Given the description of an element on the screen output the (x, y) to click on. 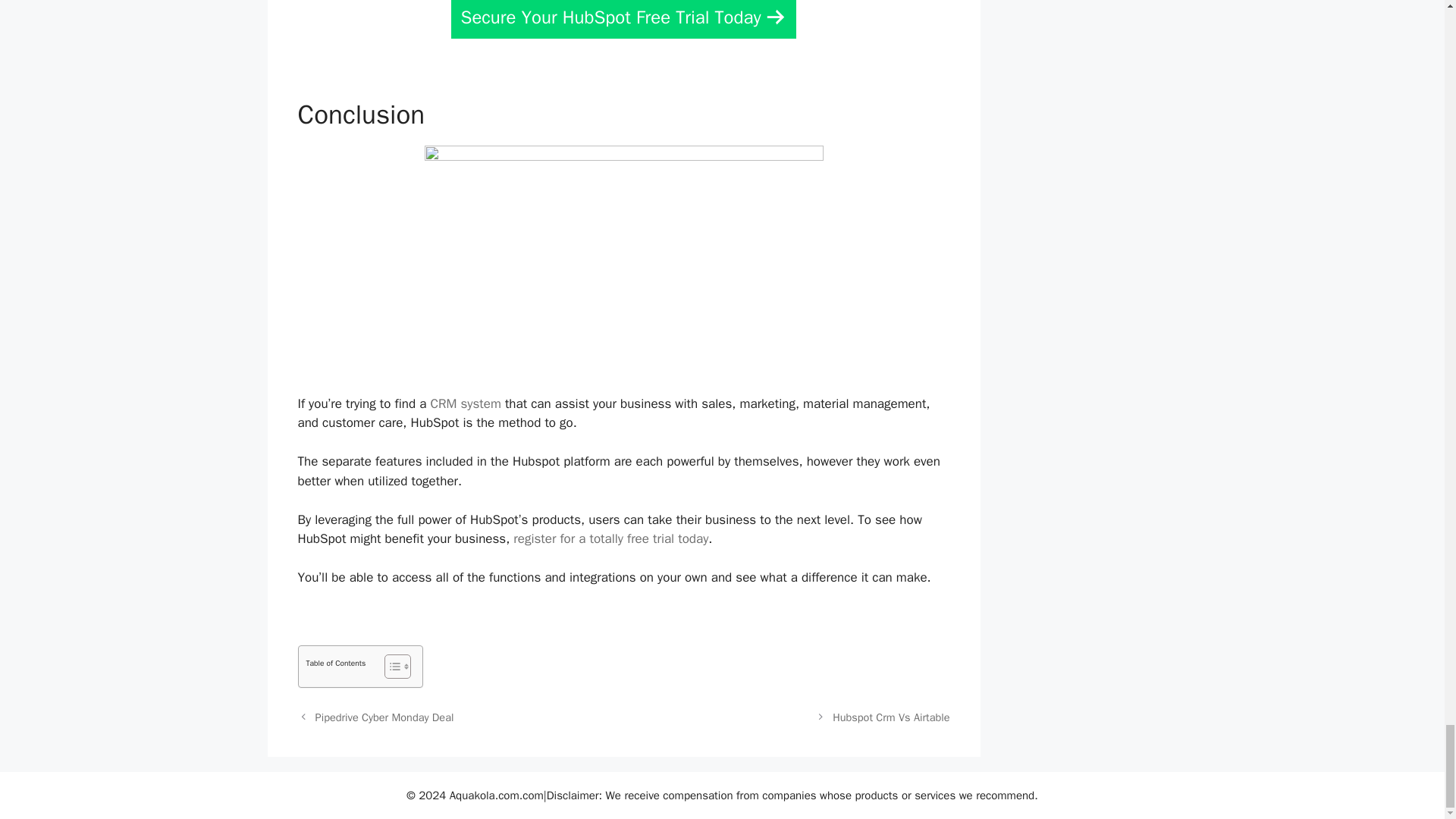
register for a totally free trial today (610, 538)
CRM system (464, 403)
Secure Your HubSpot Free Trial Today (623, 19)
